Given the description of an element on the screen output the (x, y) to click on. 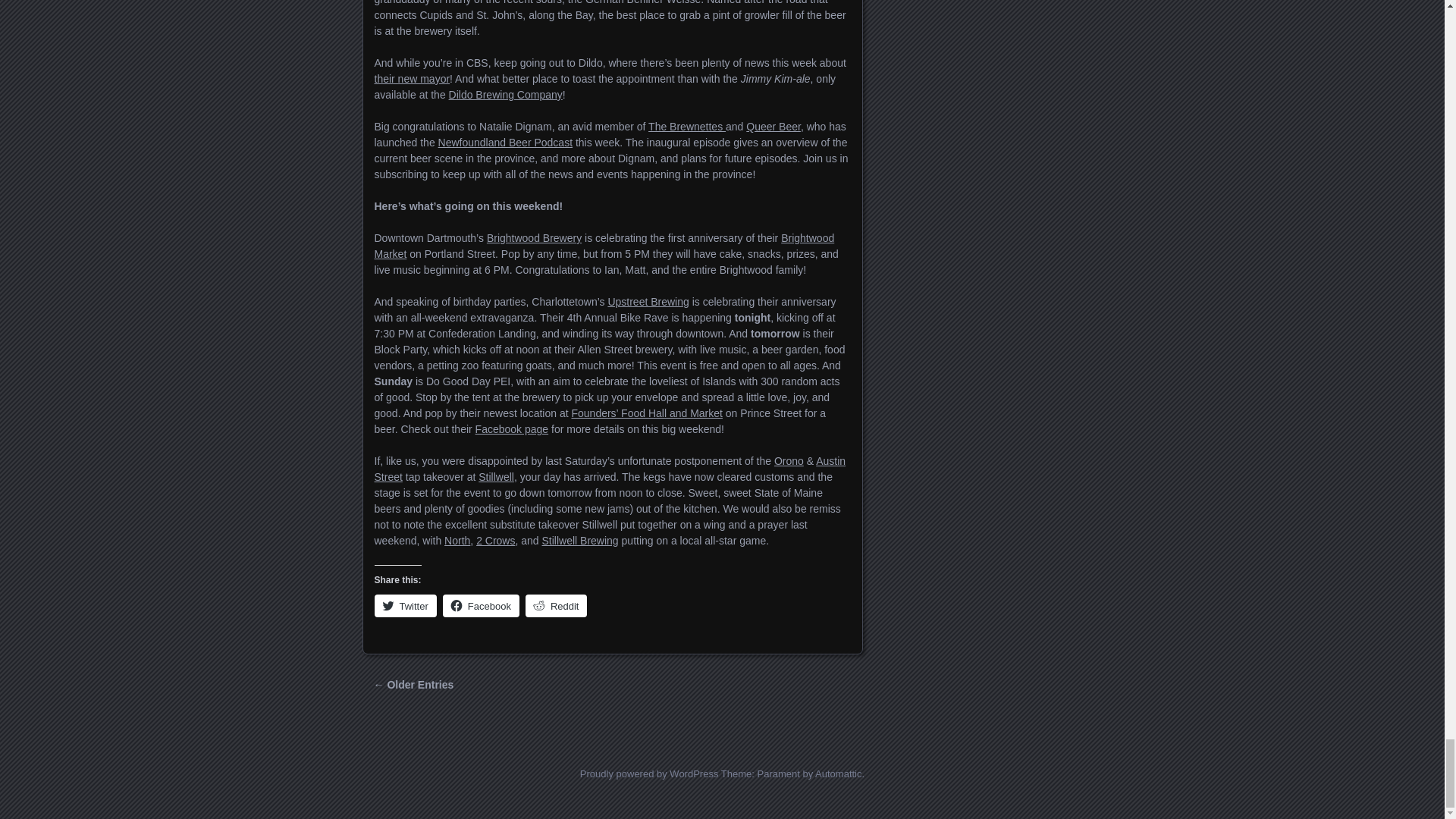
Click to share on Twitter (405, 605)
Click to share on Facebook (480, 605)
Click to share on Reddit (556, 605)
